Given the description of an element on the screen output the (x, y) to click on. 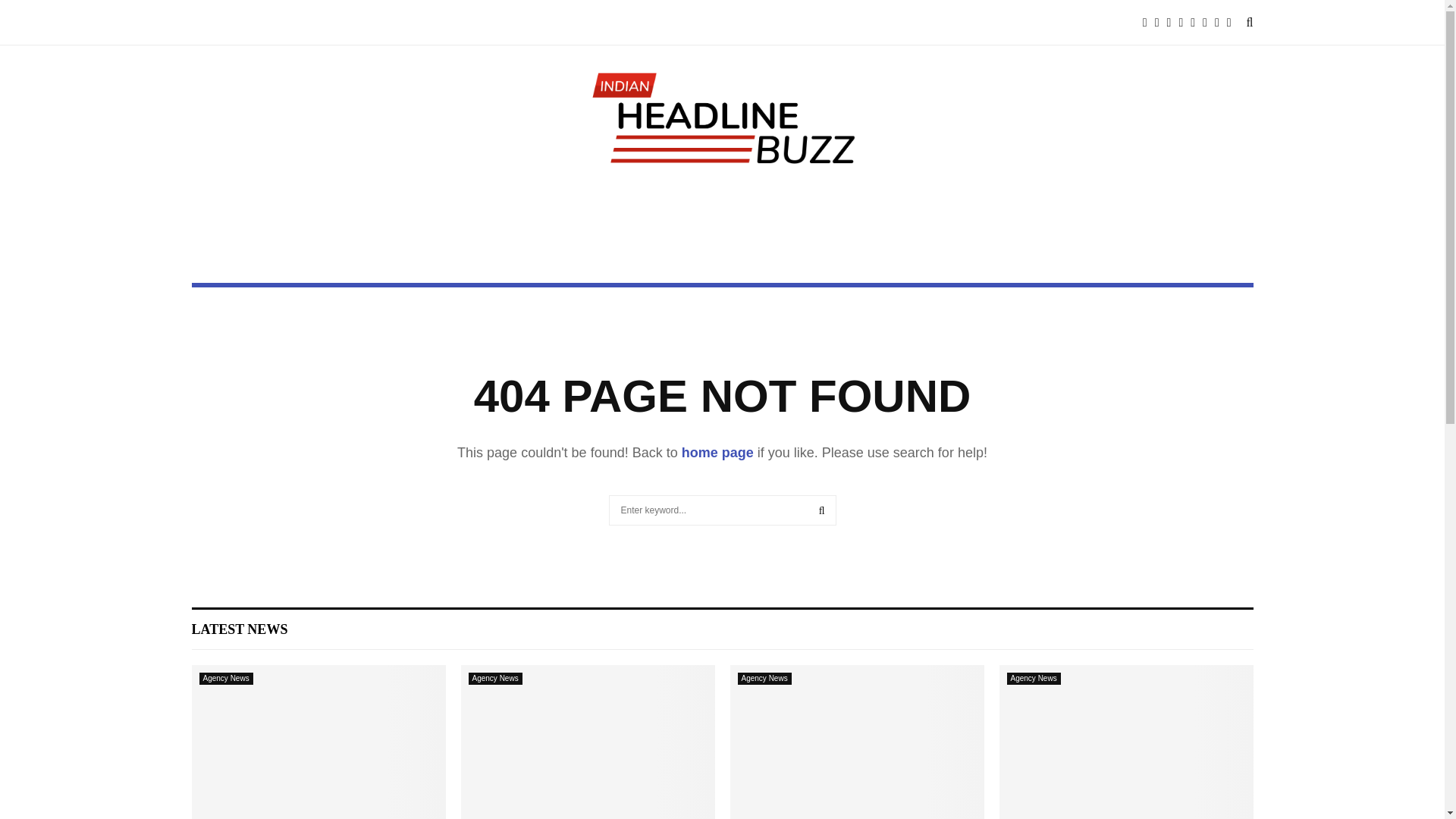
View all posts in Agency News (224, 678)
View all posts in Agency News (495, 678)
View all posts in Agency News (763, 678)
Latest News (238, 629)
How your driving record affects your car insurance premiums (317, 742)
Agency News (1034, 678)
home page (717, 452)
Agency News (763, 678)
LATEST NEWS (238, 629)
Agency News (224, 678)
Agency News (495, 678)
SEARCH (821, 510)
